Given the description of an element on the screen output the (x, y) to click on. 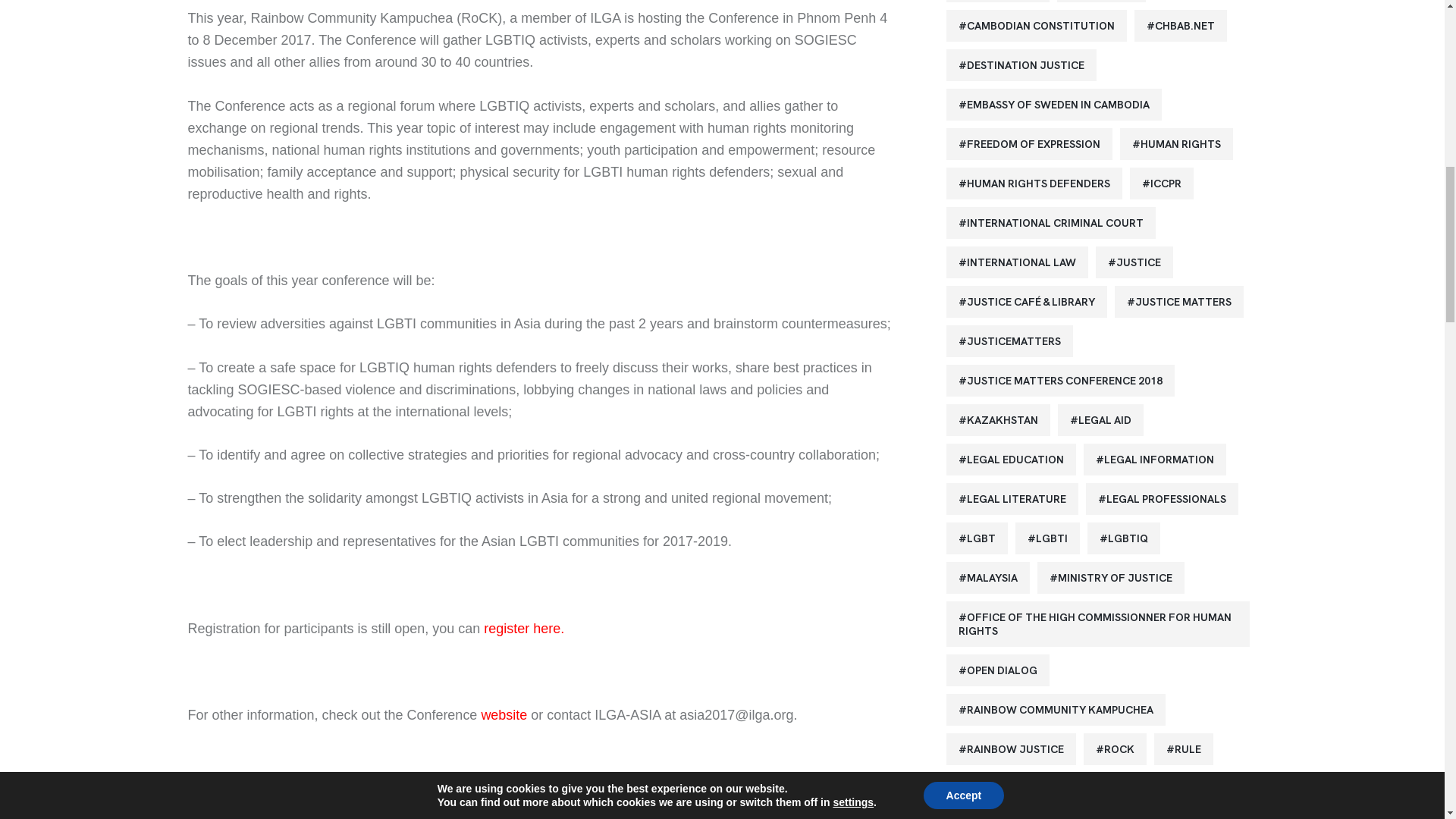
website (503, 714)
register here. (523, 628)
